Given the description of an element on the screen output the (x, y) to click on. 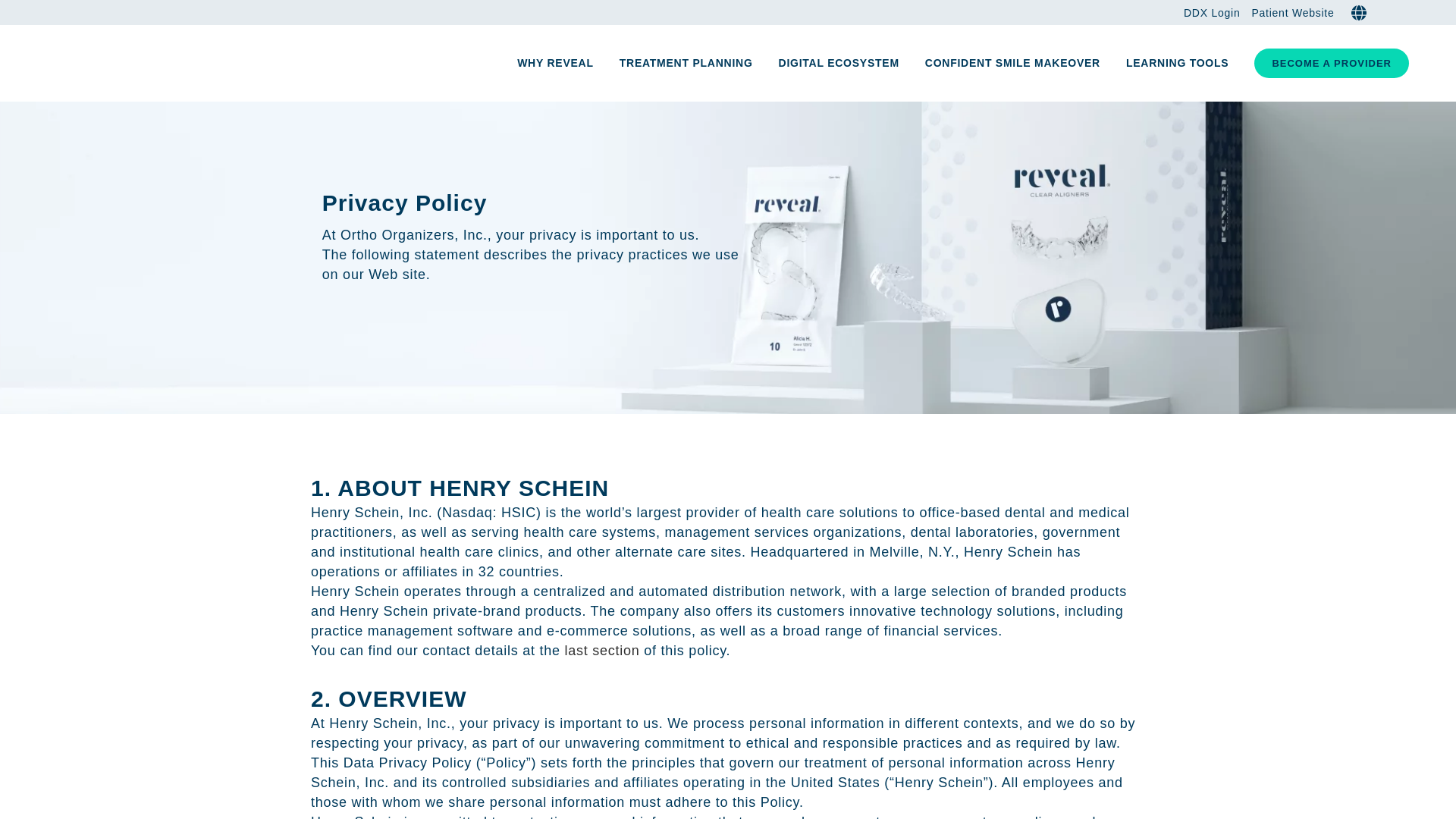
WHY REVEAL (555, 63)
DDX Login (1206, 12)
Patient Website (1286, 12)
DIGITAL ECOSYSTEM (838, 63)
BECOME A PROVIDER (1331, 62)
LEARNING TOOLS (1177, 63)
CONFIDENT SMILE MAKEOVER (1012, 63)
TREATMENT PLANNING (686, 63)
